Given the description of an element on the screen output the (x, y) to click on. 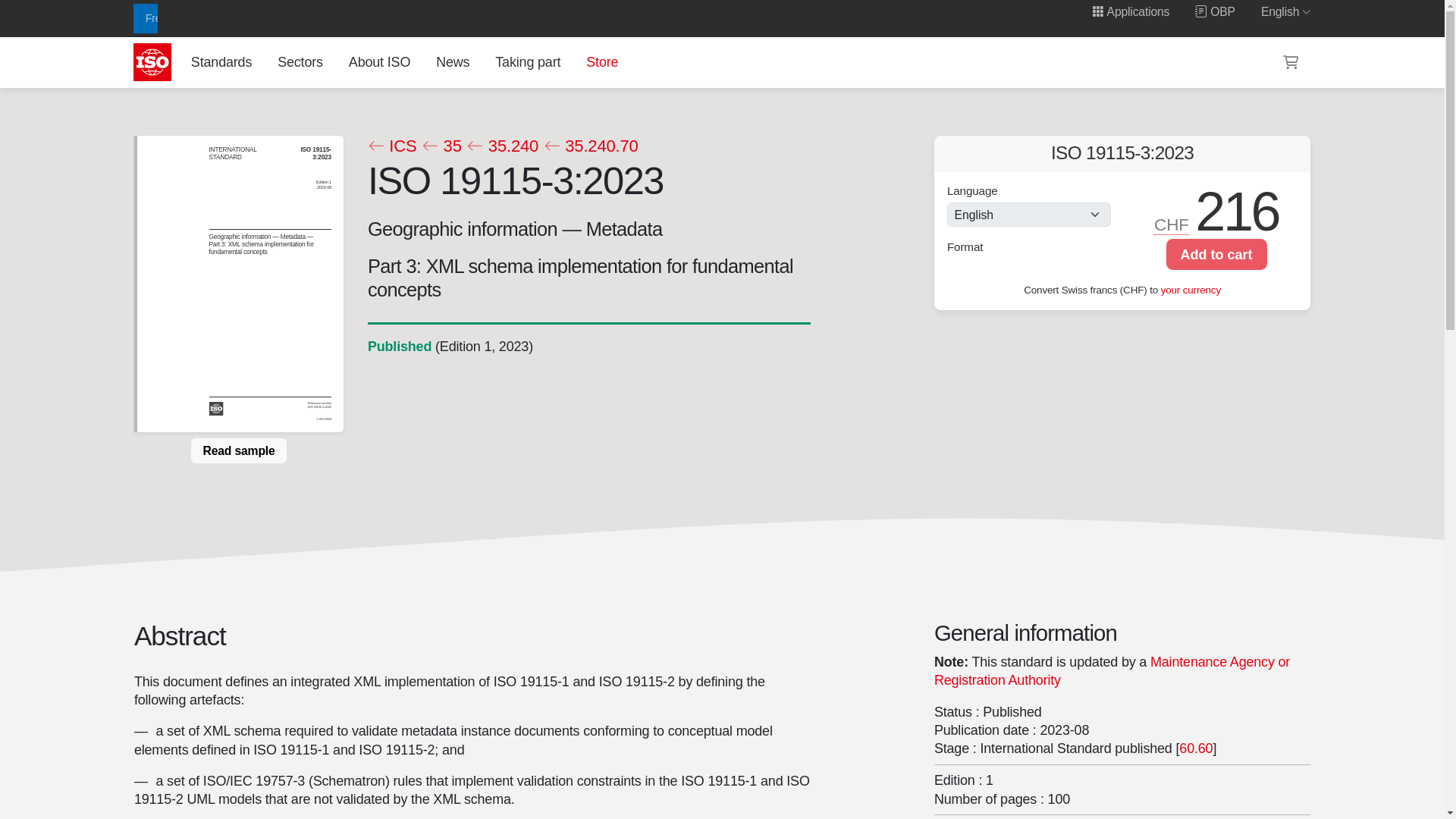
35 (441, 146)
60.60 (1195, 748)
annual-meeting-2024 (268, 18)
 OBP (1214, 11)
35.240 (501, 146)
Standards (220, 60)
your currency (1190, 289)
 Applications (1130, 11)
Online Browsing Platform (1214, 11)
